Given the description of an element on the screen output the (x, y) to click on. 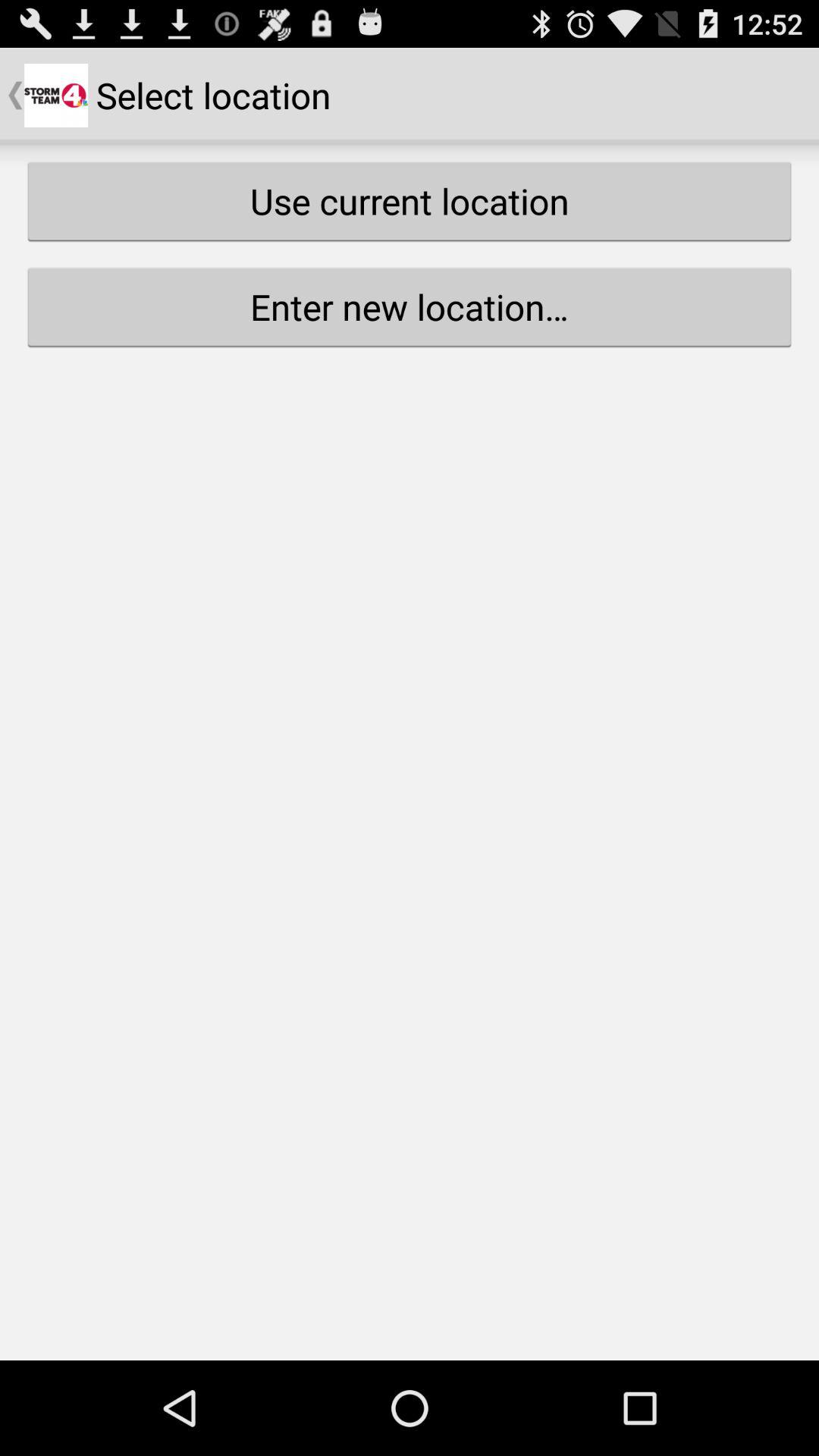
flip to the use current location (409, 201)
